Given the description of an element on the screen output the (x, y) to click on. 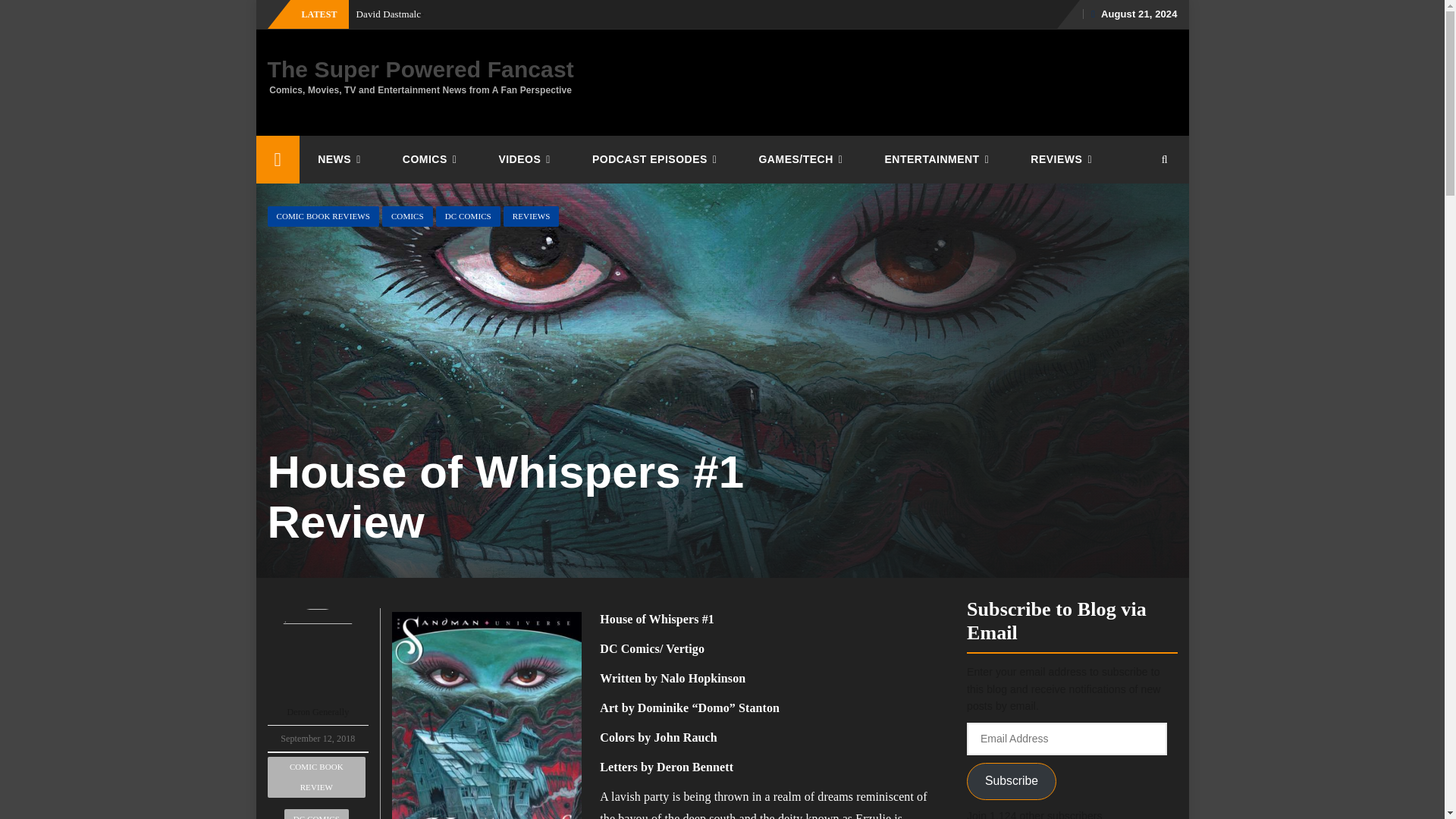
NEWS (341, 159)
PODCAST EPISODES (657, 159)
The Super Powered Fancast (277, 159)
David Dastmalc (389, 13)
COMICS (432, 159)
The Super Powered Fancast (419, 68)
VIDEOS (526, 159)
